Given the description of an element on the screen output the (x, y) to click on. 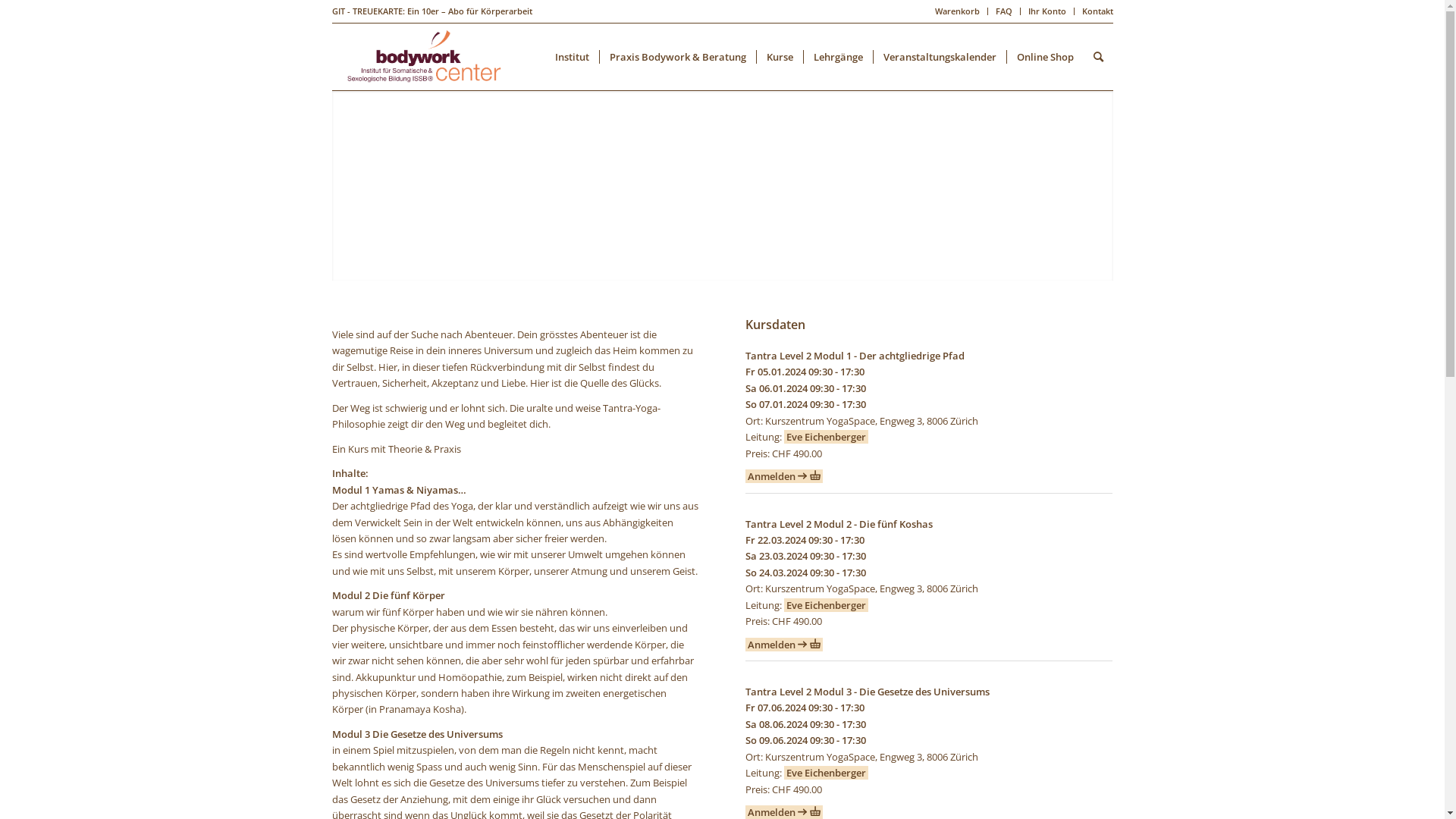
Online Shop Element type: text (1043, 56)
Warenkorb Element type: text (956, 10)
Kurse Element type: text (778, 56)
Eve Eichenberger Element type: text (826, 772)
Eve Eichenberger Element type: text (826, 436)
Logo ISSB 2022 Web Element type: hover (422, 56)
FAQ Element type: text (1002, 10)
Anmelden Element type: text (783, 476)
Praxis Bodywork & Beratung Element type: text (677, 56)
Ihr Konto Element type: text (1047, 10)
Eve Eichenberger Element type: text (826, 604)
Institut Element type: text (571, 56)
Kontakt Element type: text (1096, 10)
Veranstaltungskalender Element type: text (938, 56)
Anmelden Element type: text (783, 644)
